Given the description of an element on the screen output the (x, y) to click on. 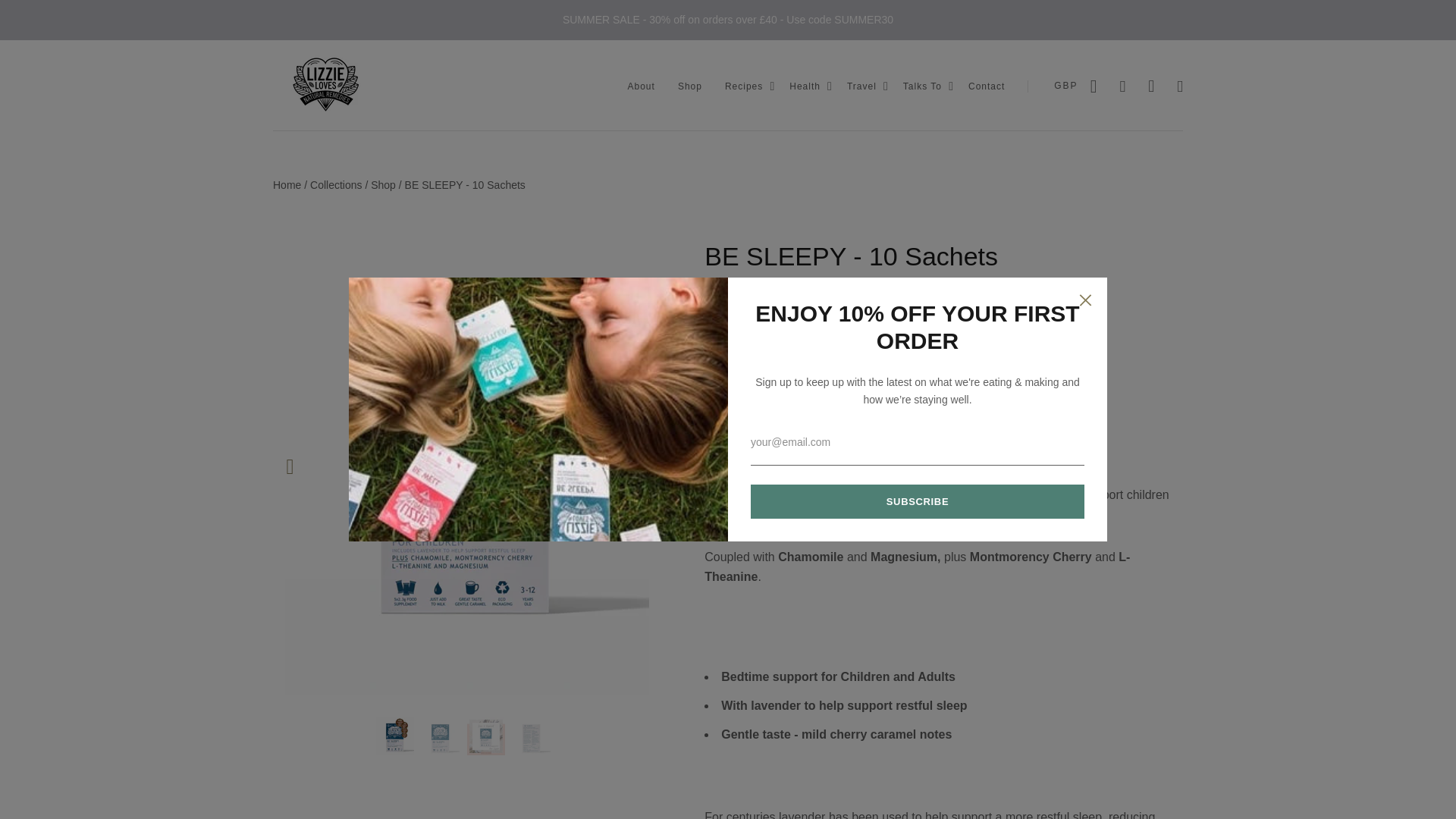
Shop (689, 86)
1 (723, 372)
Subscribe (917, 501)
Talks To (922, 86)
Add to cart (766, 430)
Health (805, 86)
Travel (861, 86)
About (641, 86)
Recipes (743, 86)
Contact (986, 86)
